Given the description of an element on the screen output the (x, y) to click on. 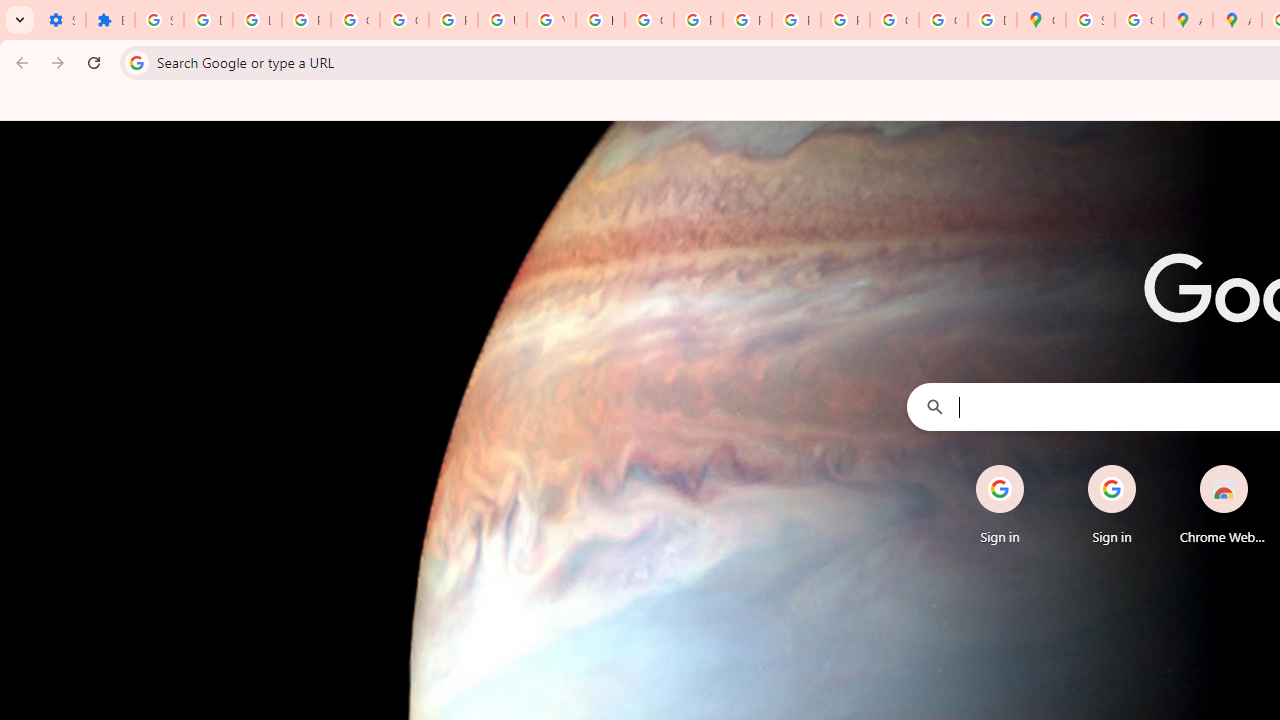
Google Account Help (355, 20)
Create your Google Account (1138, 20)
Settings - On startup (61, 20)
Delete photos & videos - Computer - Google Photos Help (208, 20)
